Given the description of an element on the screen output the (x, y) to click on. 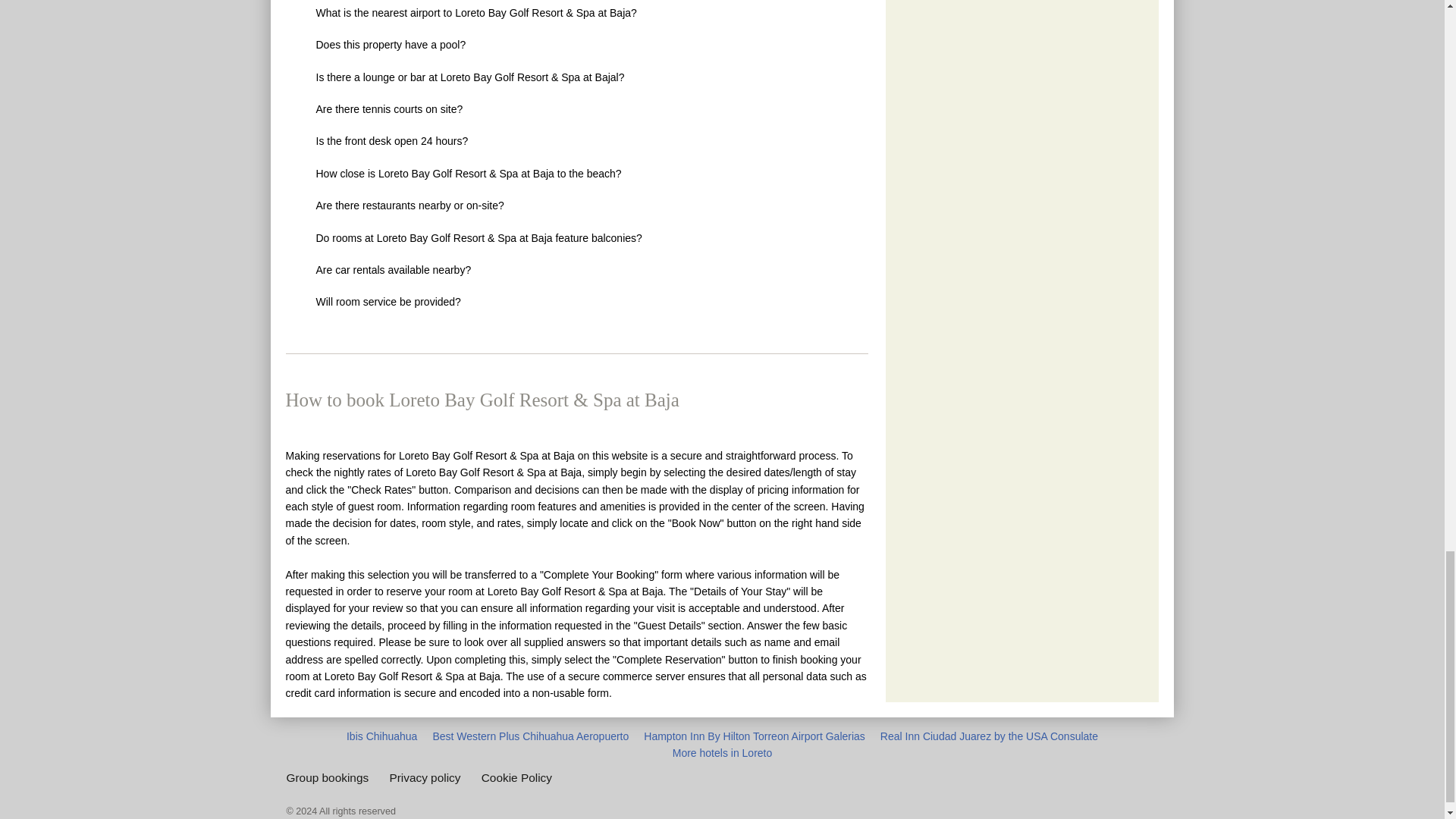
Privacy policy (424, 777)
More hotels in Loreto (722, 752)
Ibis Chihuahua (381, 736)
Real Inn Ciudad Juarez by the USA Consulate (988, 736)
Best Western Plus Chihuahua Aeropuerto (530, 736)
Group bookings (327, 777)
Hampton Inn By Hilton Torreon Airport Galerias (753, 736)
Cookie Policy (516, 777)
